Given the description of an element on the screen output the (x, y) to click on. 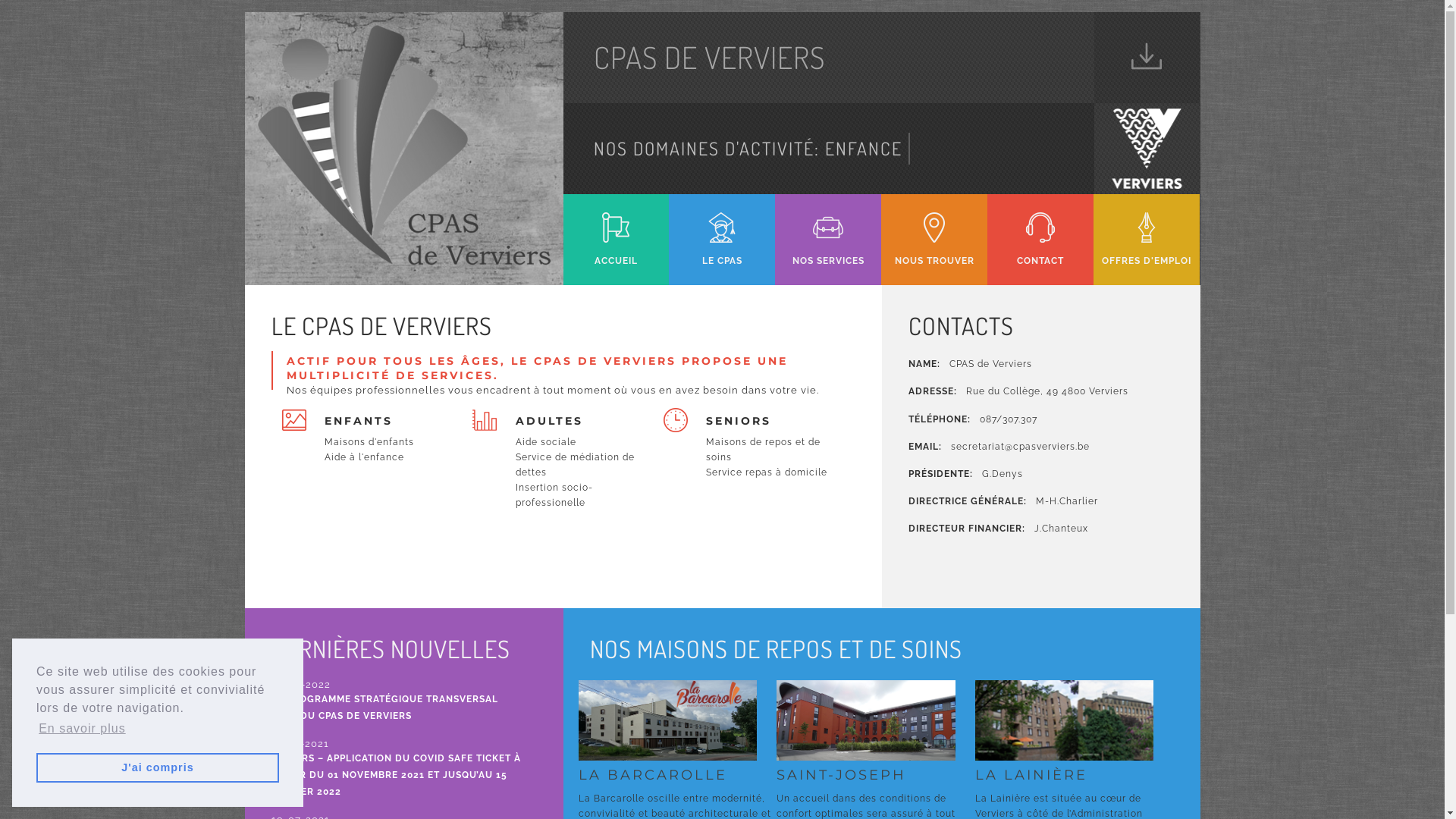
LA BARCAROLLE Element type: text (676, 748)
LE CPAS Element type: text (721, 231)
NOUS TROUVER Element type: text (934, 231)
OFFRES D'EMPLOI Element type: text (1146, 231)
Ville de Verviers Element type: hover (1146, 46)
NOS SERVICES Element type: text (828, 231)
ACCUEIL Element type: text (615, 231)
En savoir plus Element type: text (82, 728)
CONTACT Element type: text (1040, 231)
J'ai compris Element type: text (157, 767)
SAINT-JOSEPH Element type: text (875, 748)
